Given the description of an element on the screen output the (x, y) to click on. 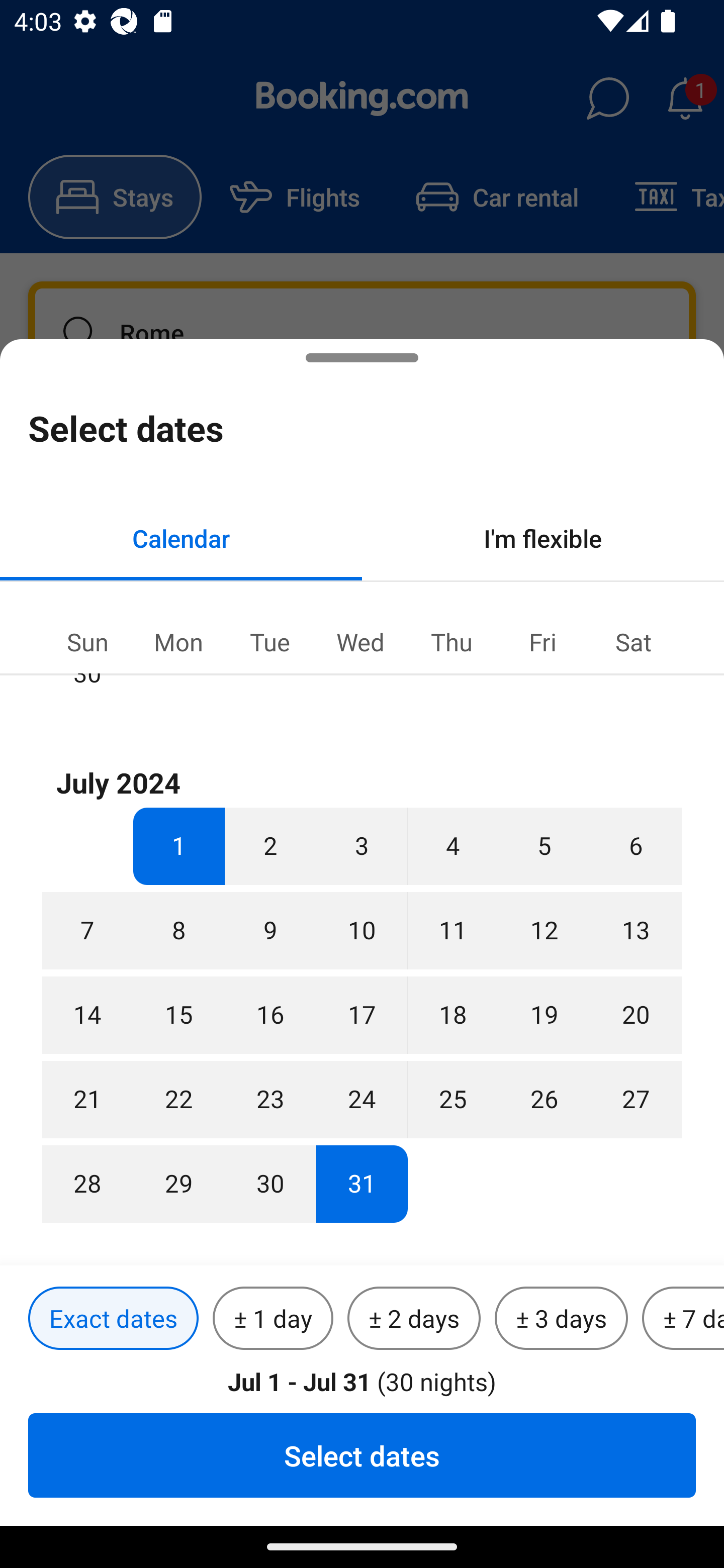
I'm flexible (543, 537)
Exact dates (113, 1318)
± 1 day (272, 1318)
± 2 days (413, 1318)
± 3 days (560, 1318)
± 7 days (683, 1318)
Select dates (361, 1454)
